Given the description of an element on the screen output the (x, y) to click on. 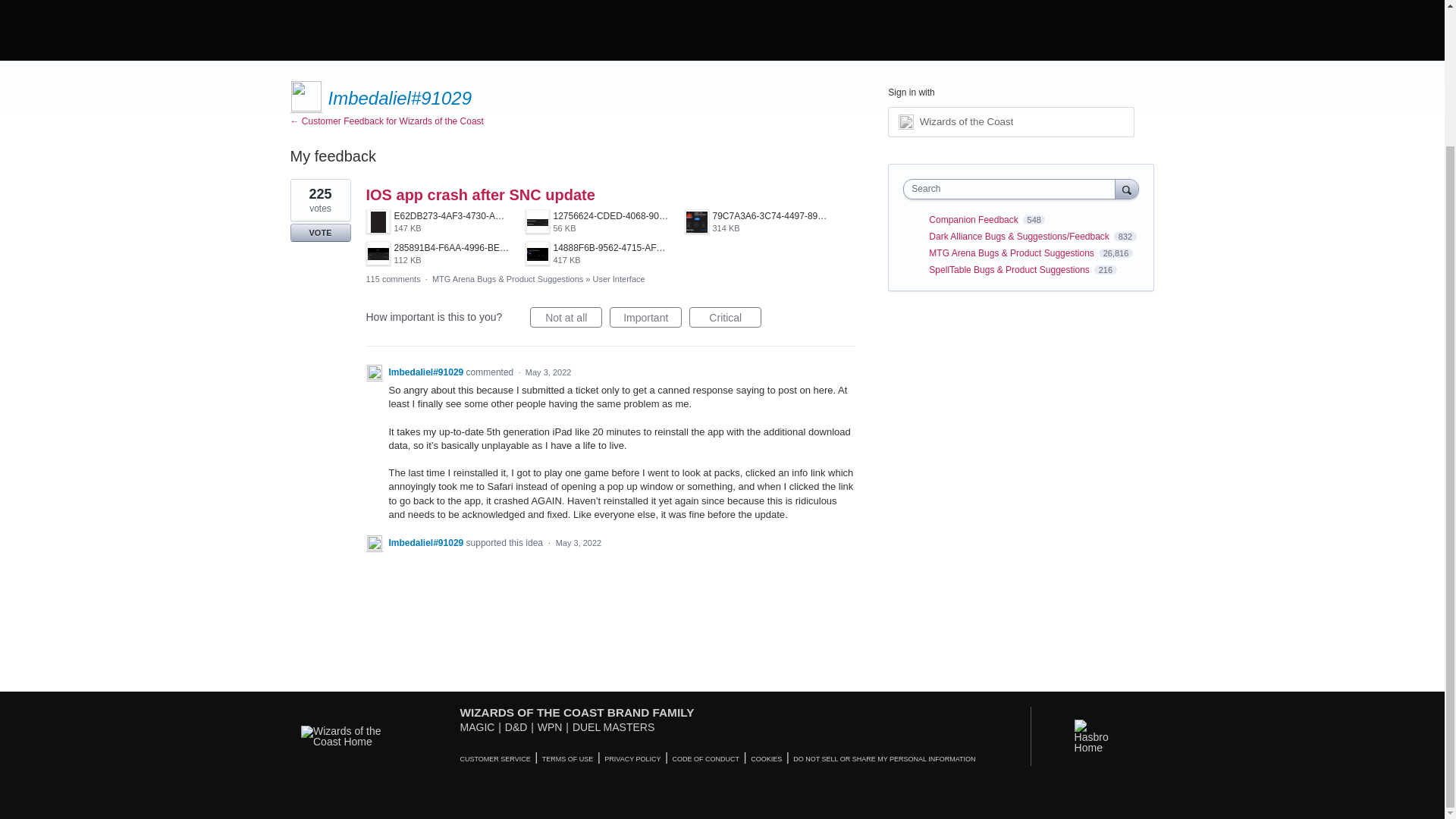
Wizards of the Coast (596, 253)
Comments for IOS app crash after SNC update (1011, 122)
Not at all (392, 278)
View all ideas in Companion Feedback (565, 317)
Critical (974, 219)
View 79C7A3A6-3C74-4497-899B-6718D53F51AE.jpeg (437, 253)
Important (724, 317)
View E62DB273-4AF3-4730-AE25-F98DE0057BF0.png (756, 221)
View 14888F6B-9562-4715-AF90-E523AD8B81D6.jpeg (645, 317)
VOTE (437, 221)
User Interface (596, 253)
